Given the description of an element on the screen output the (x, y) to click on. 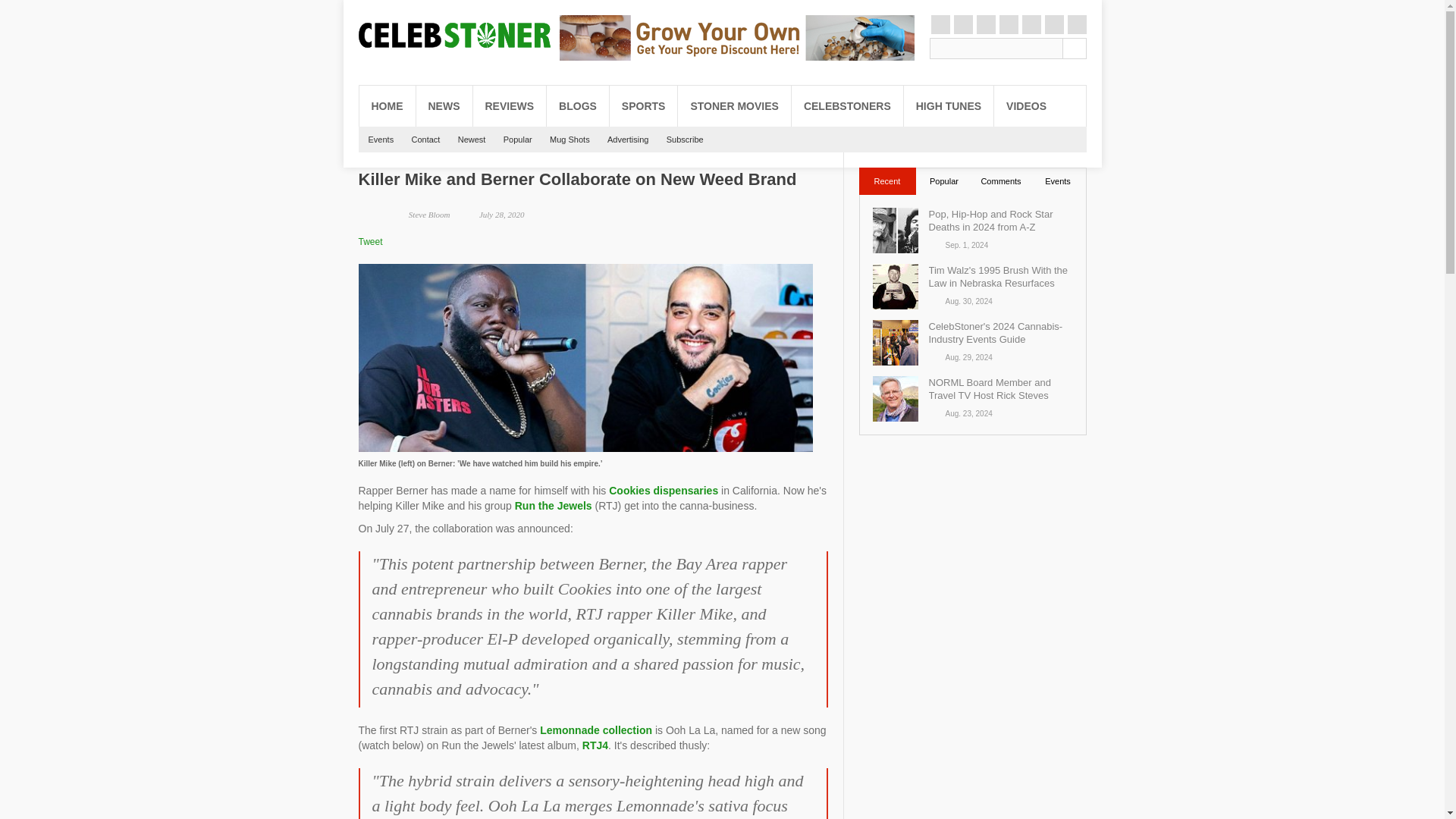
REVIEWS (510, 105)
SPORTS (644, 105)
cookies.co (662, 490)
NEWS (442, 105)
STONER MOVIES (734, 105)
BLOGS (577, 105)
CELEBSTONERS (847, 105)
amazon.com (595, 745)
HOME (386, 105)
thereallemonnade.com (596, 729)
